Given the description of an element on the screen output the (x, y) to click on. 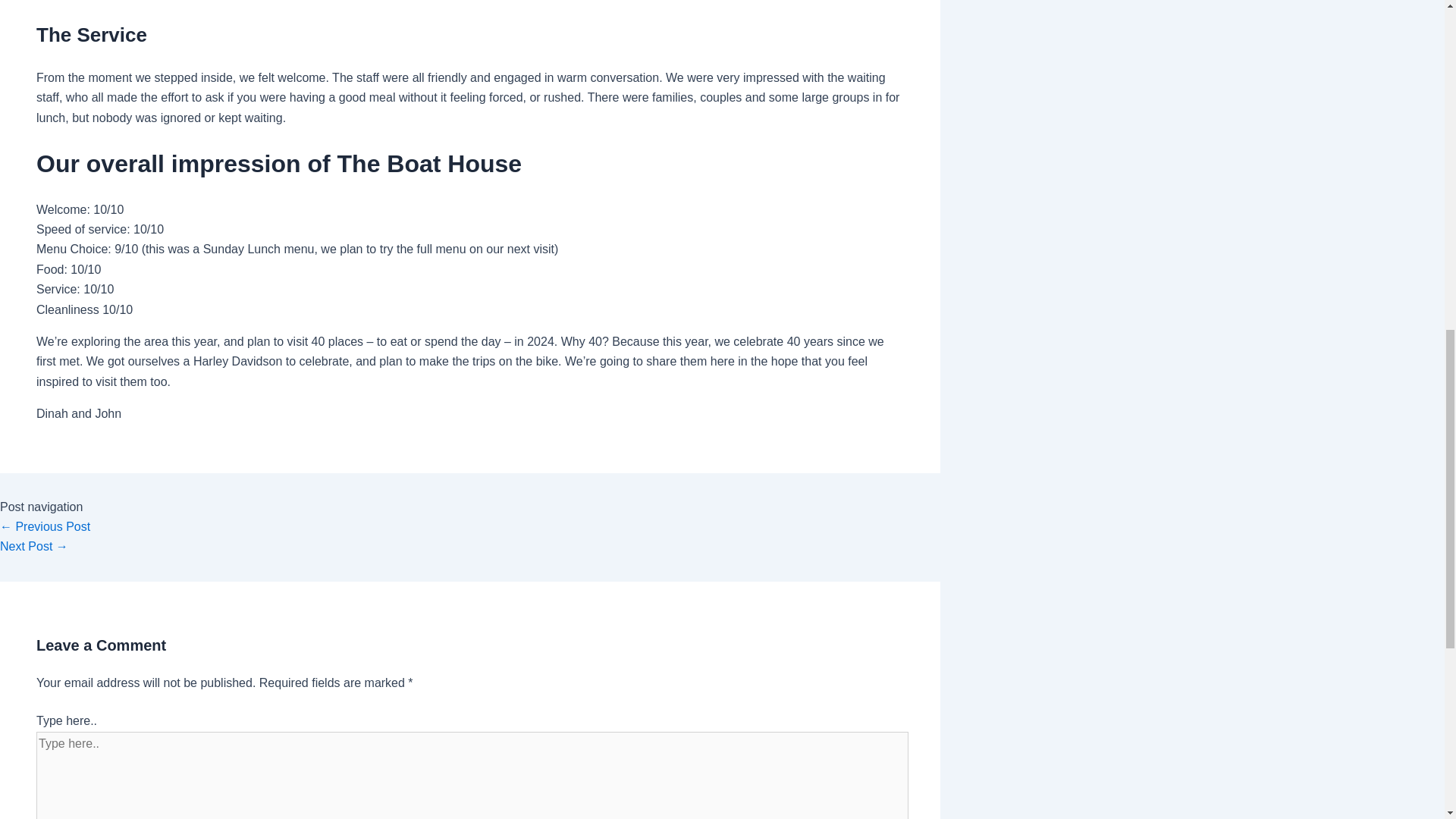
The Dragon's Garden Bookshop Llandovery (45, 526)
